Given the description of an element on the screen output the (x, y) to click on. 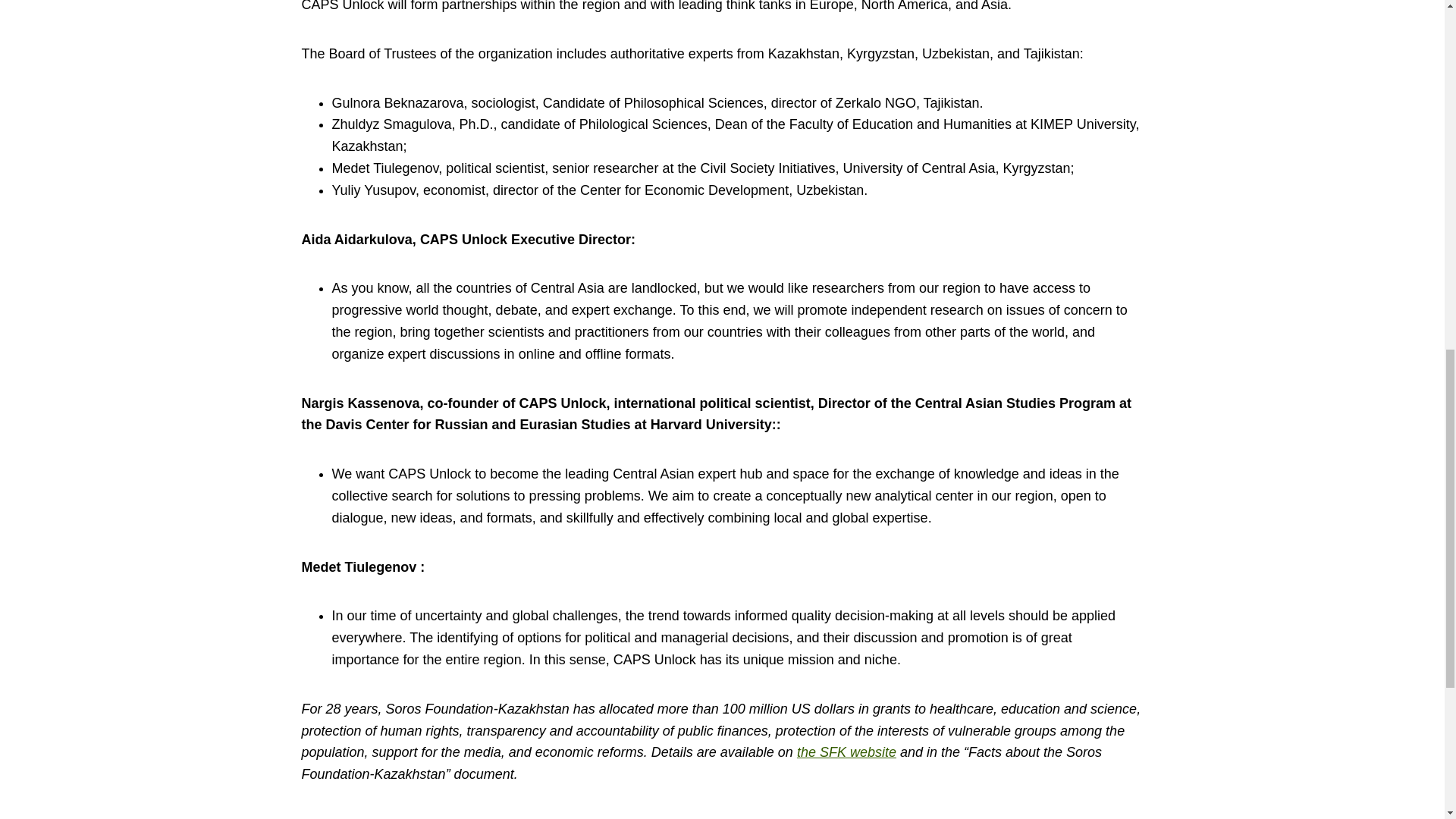
the SFK website (846, 752)
